Given the description of an element on the screen output the (x, y) to click on. 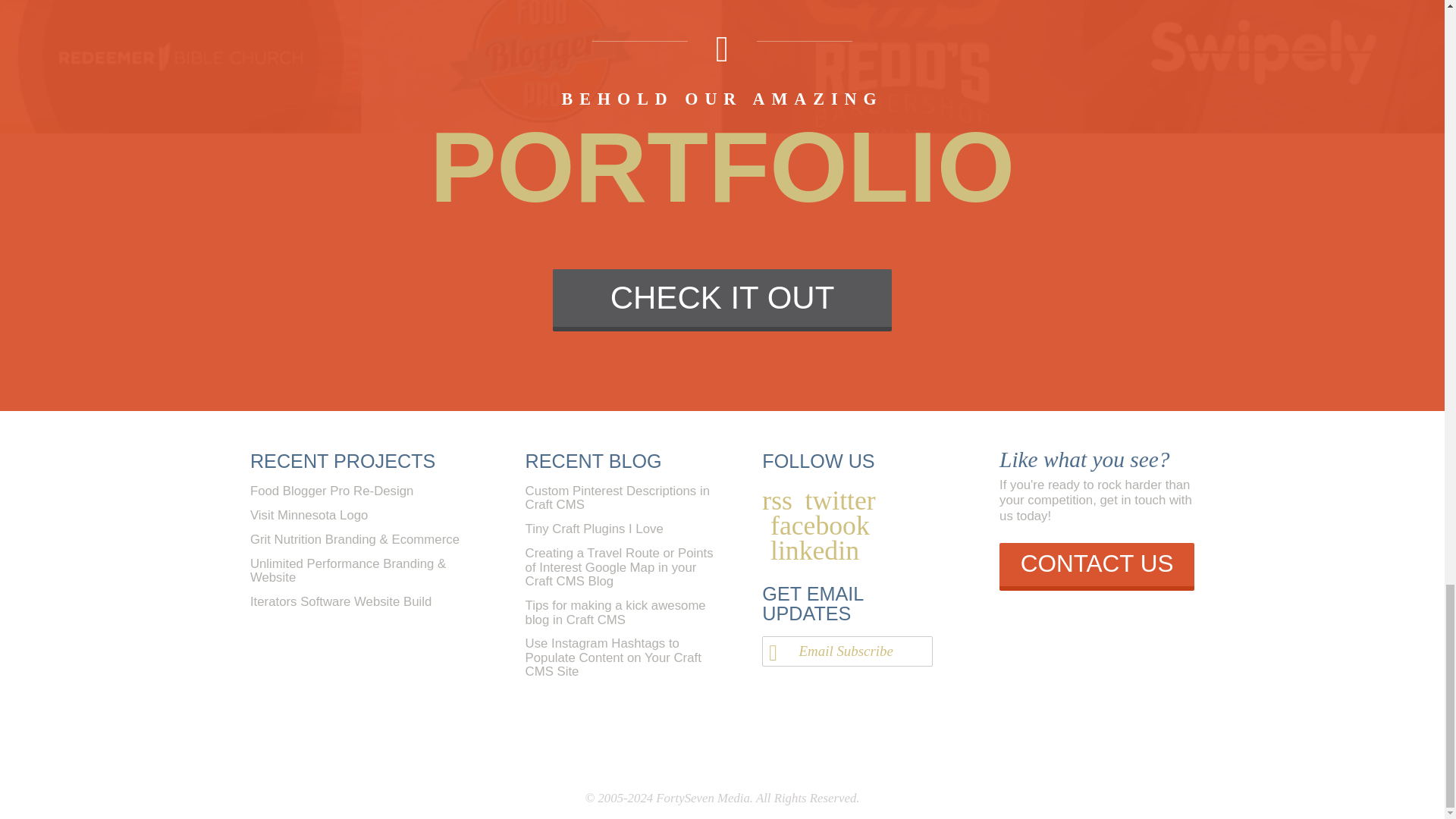
rss (776, 500)
Custom Pinterest Descriptions in Craft CMS (617, 497)
Iterators Software Website Build (340, 601)
facebook (819, 525)
CHECK IT OUT (722, 300)
CONTACT US (1095, 566)
Tips for making a kick awesome blog in Craft CMS (615, 612)
Tiny Craft Plugins I Love (594, 528)
Visit Minnesota Logo (309, 514)
